Given the description of an element on the screen output the (x, y) to click on. 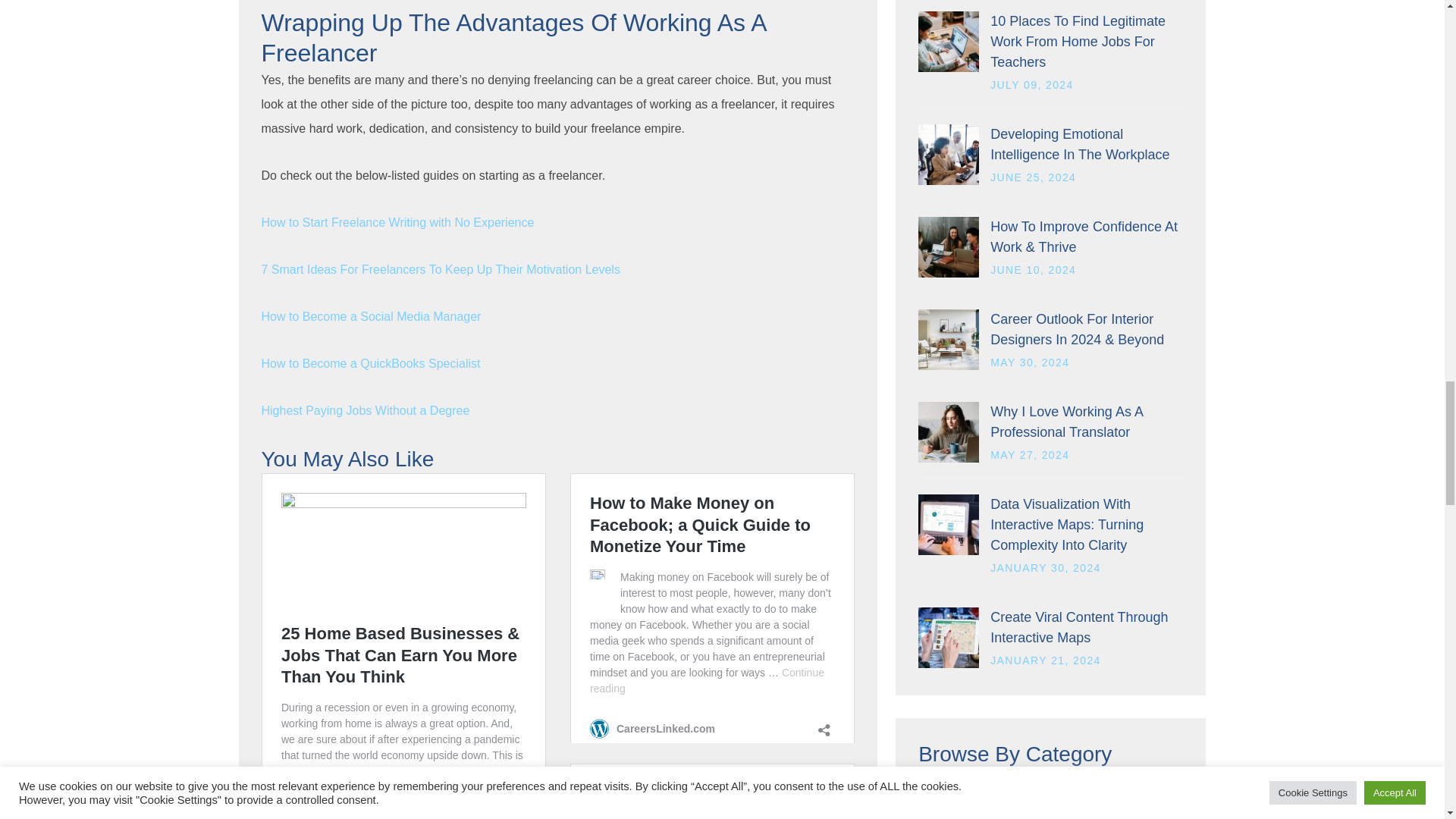
How to Start Freelance Writing with No Experience (397, 222)
How to Become a QuickBooks Specialist (370, 363)
How to Become a Social Media Manager (370, 316)
